Given the description of an element on the screen output the (x, y) to click on. 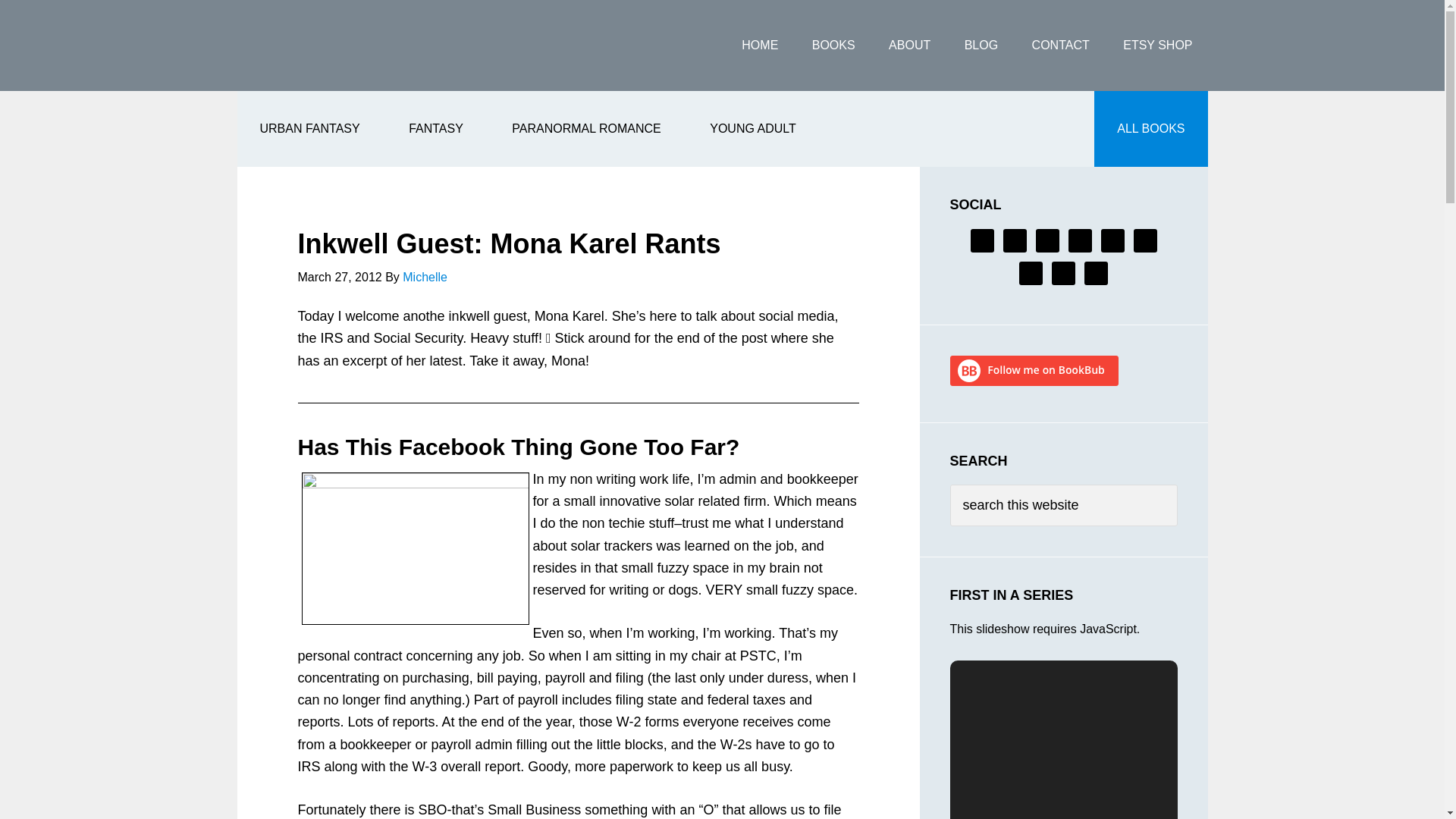
YOUNG ADULT (752, 128)
BLOG (981, 45)
Michelle (424, 277)
tracker 1 (415, 548)
ETSY SHOP (1157, 45)
Michelle Miles Author (357, 45)
URBAN FANTASY (308, 128)
CONTACT (1060, 45)
BOOKS (833, 45)
ALL BOOKS (1150, 128)
HOME (759, 45)
